Given the description of an element on the screen output the (x, y) to click on. 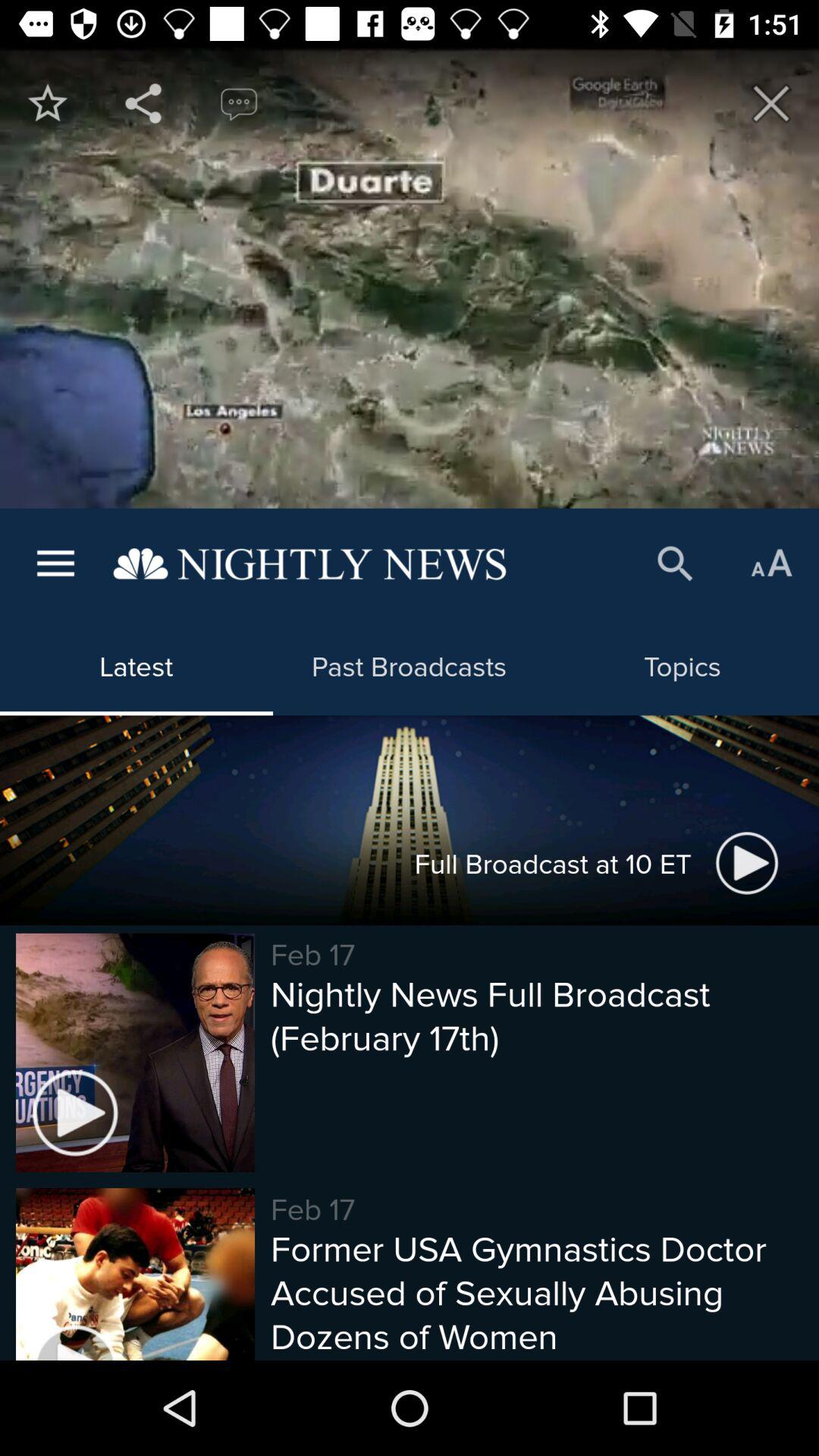
close the page (771, 103)
